Given the description of an element on the screen output the (x, y) to click on. 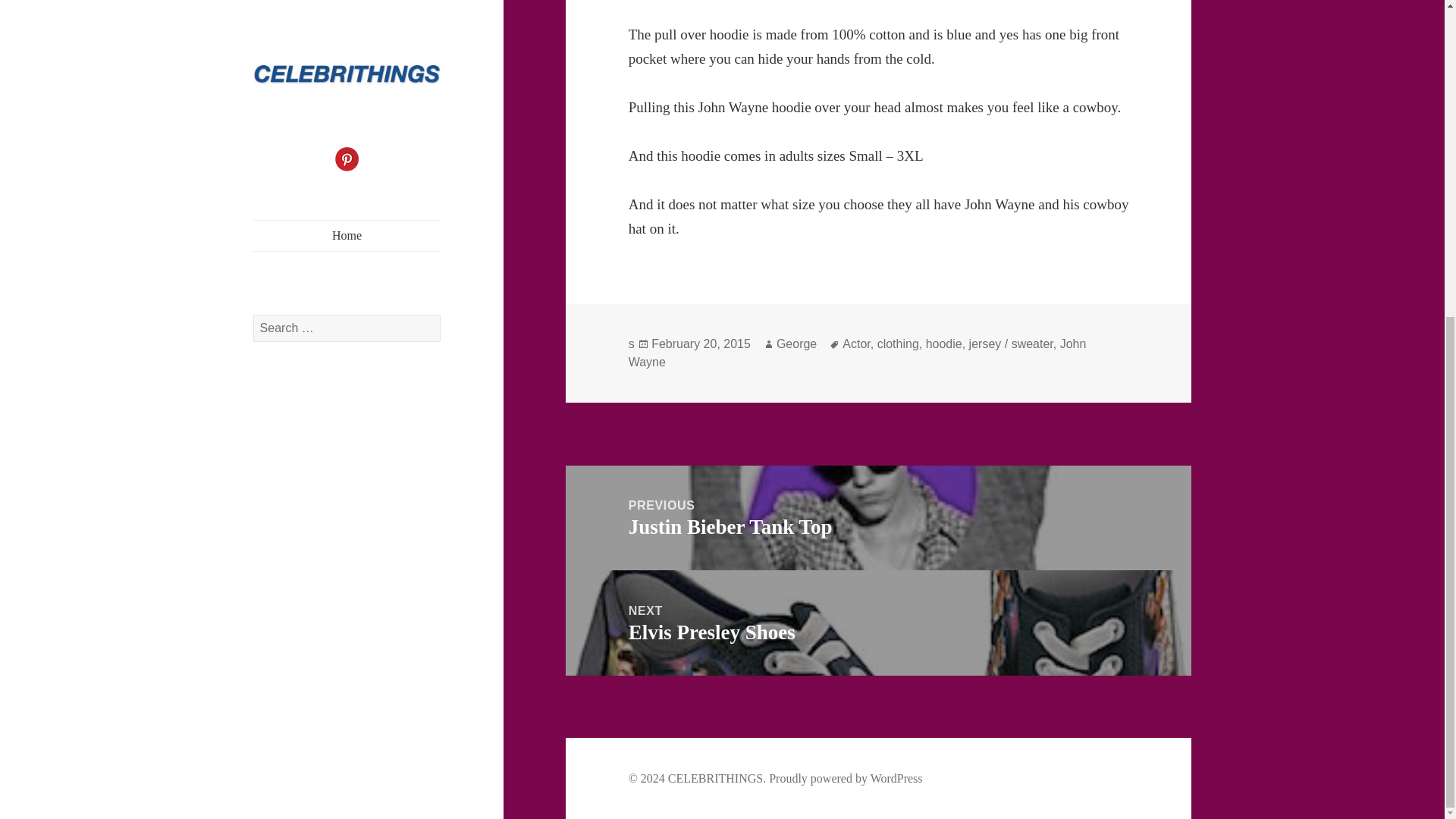
George (796, 344)
John Wayne (857, 353)
clothing (878, 518)
Proudly powered by WordPress (897, 344)
February 20, 2015 (844, 778)
hoodie (700, 344)
Actor (944, 344)
